Given the description of an element on the screen output the (x, y) to click on. 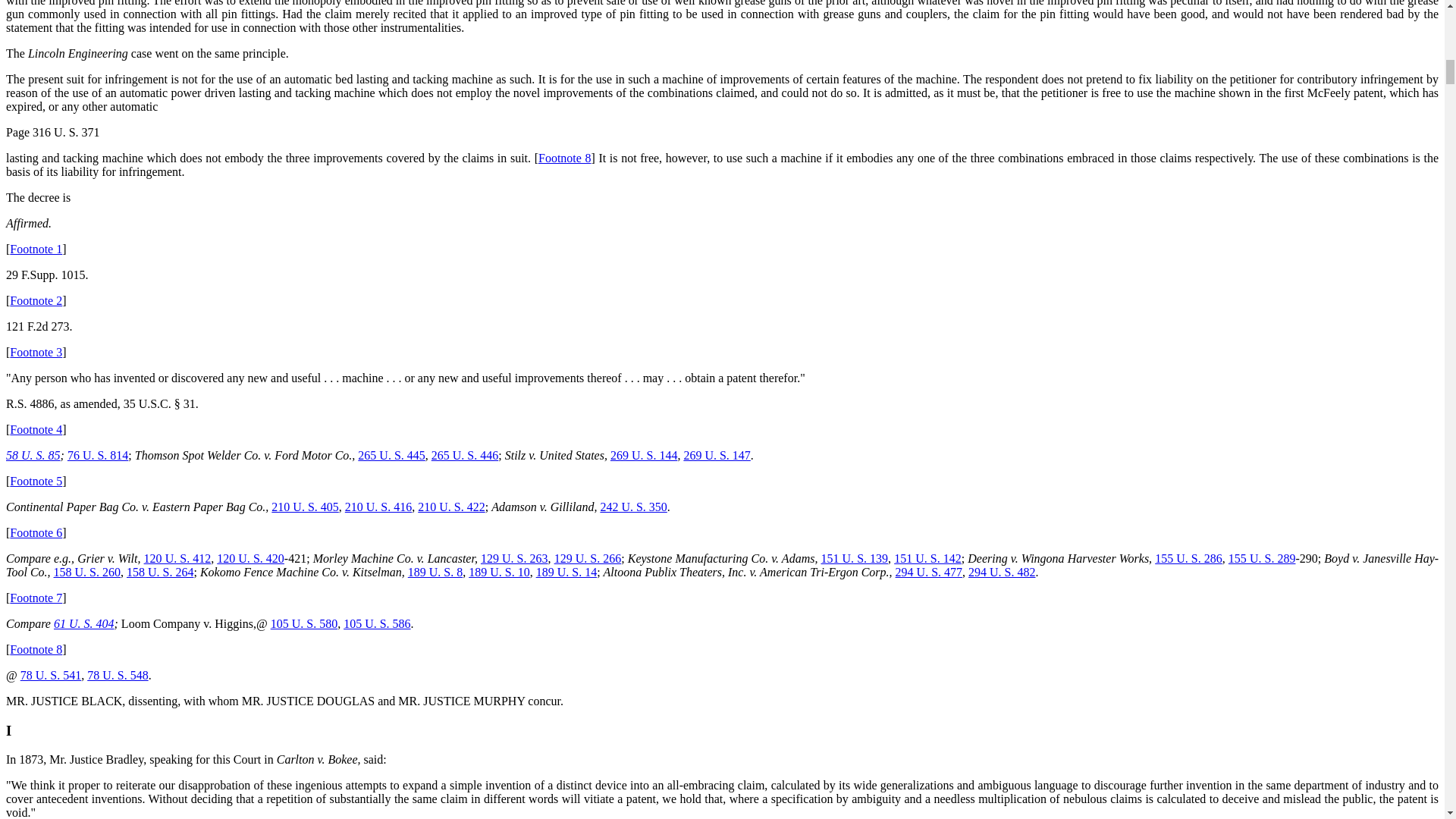
269 U. S. 147 (715, 454)
Footnote 4 (36, 429)
58 U. S. 85 (33, 454)
76 U. S. 814 (97, 454)
265 U. S. 445 (391, 454)
Footnote 5 (36, 481)
Footnote 1 (36, 248)
Footnote 2 (36, 300)
Page 316 U. S. 371 (52, 132)
265 U. S. 446 (463, 454)
